Given the description of an element on the screen output the (x, y) to click on. 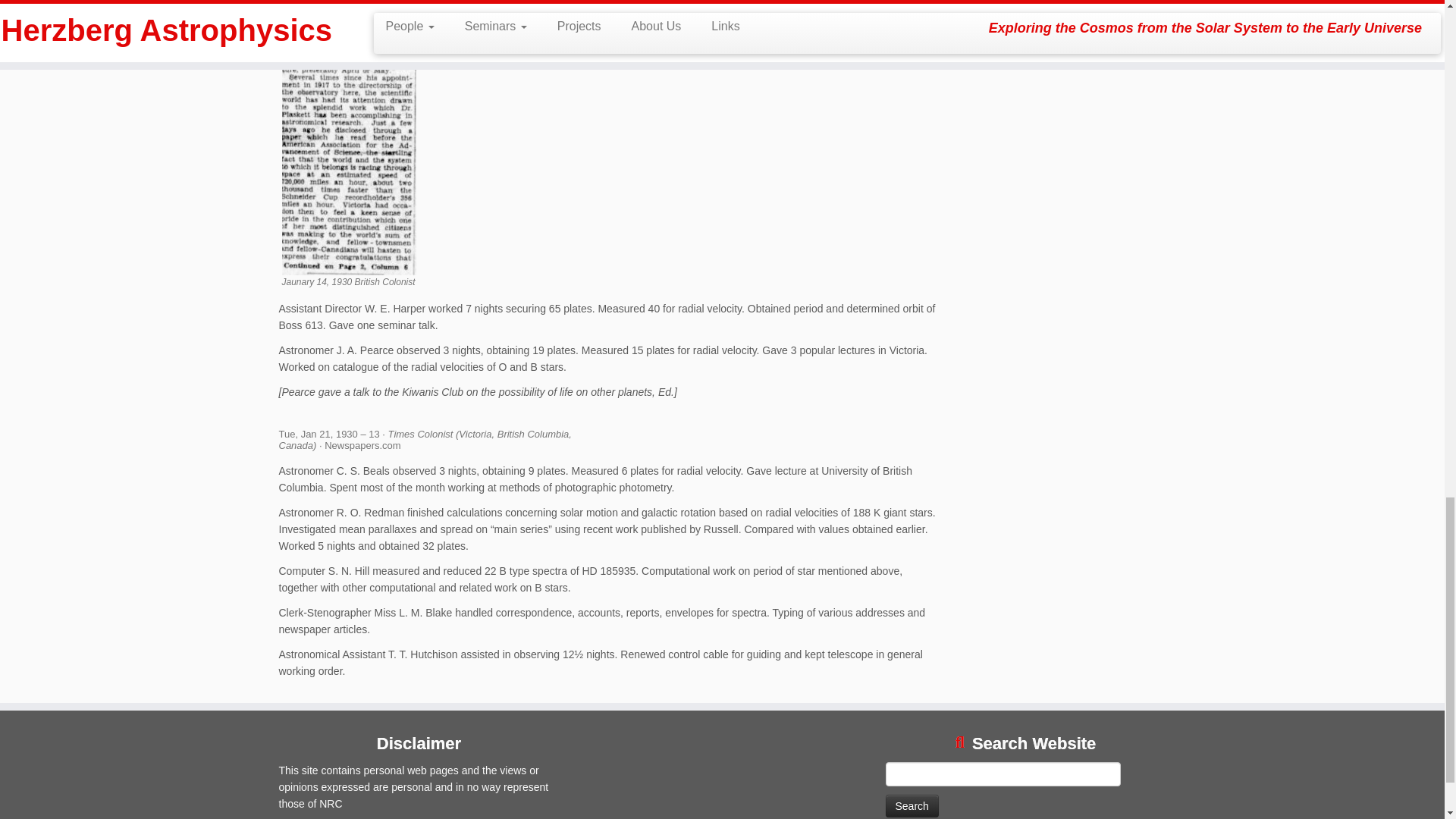
Search (912, 805)
Search (912, 805)
